Given the description of an element on the screen output the (x, y) to click on. 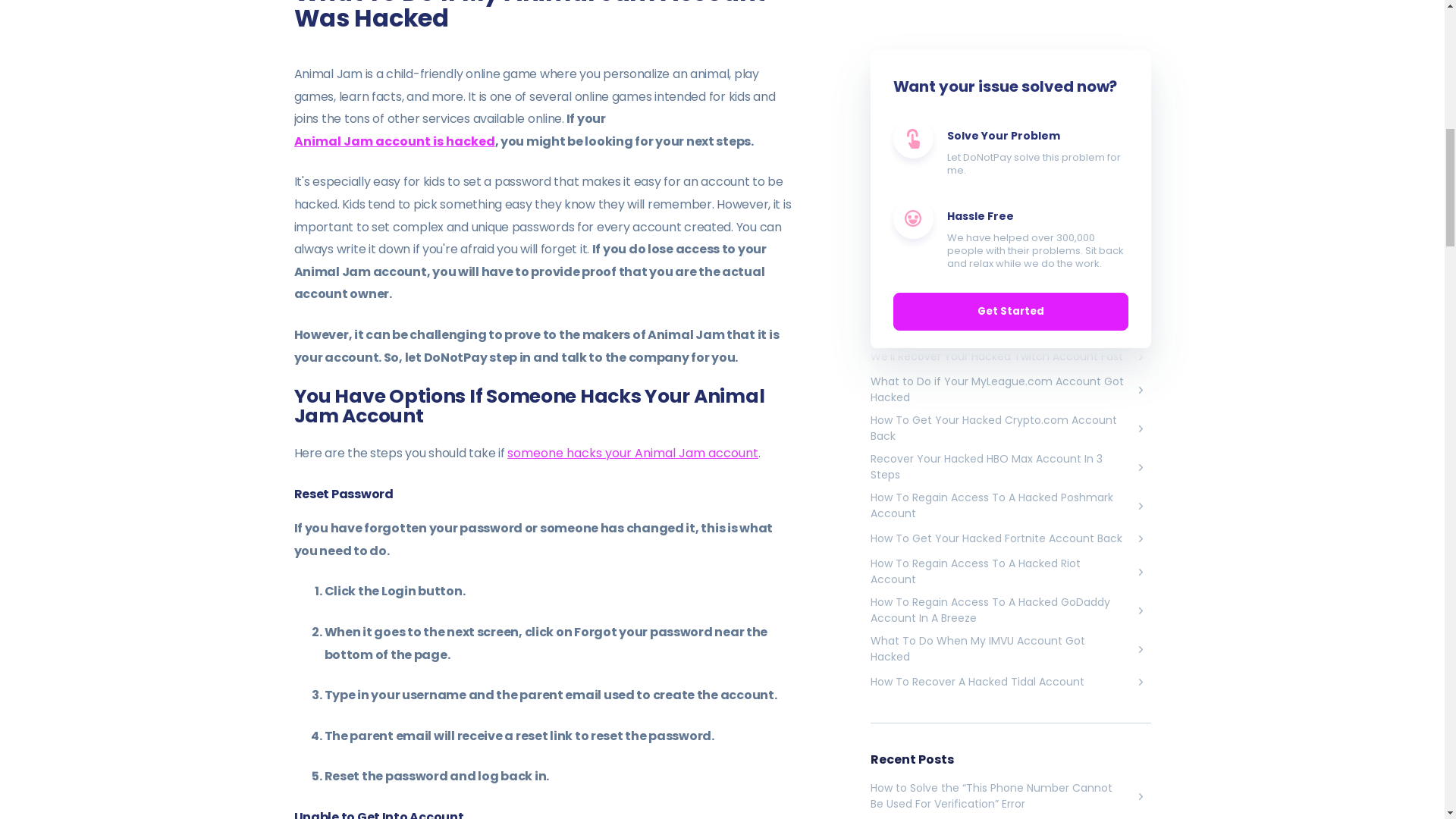
someone hacks your Animal Jam account (632, 452)
Animal Jam account is hacked (394, 140)
